Given the description of an element on the screen output the (x, y) to click on. 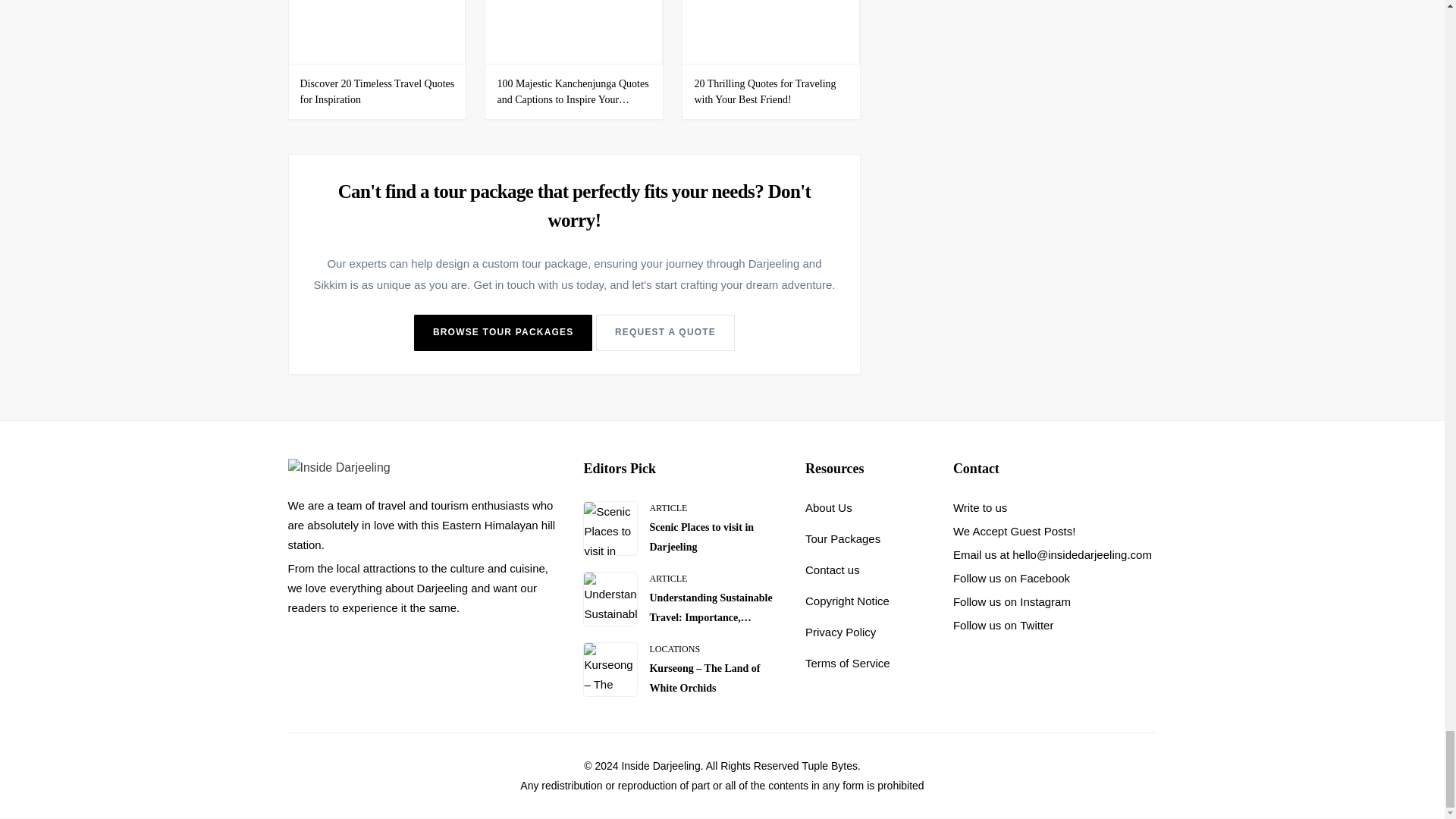
20 Thrilling Quotes for Traveling with Your Best Friend! (764, 91)
Discover 20 Timeless Travel Quotes for Inspiration (376, 91)
20 Thrilling Quotes for Traveling with Your Best Friend! (771, 32)
Discover 20 Timeless Travel Quotes for Inspiration (376, 32)
